Given the description of an element on the screen output the (x, y) to click on. 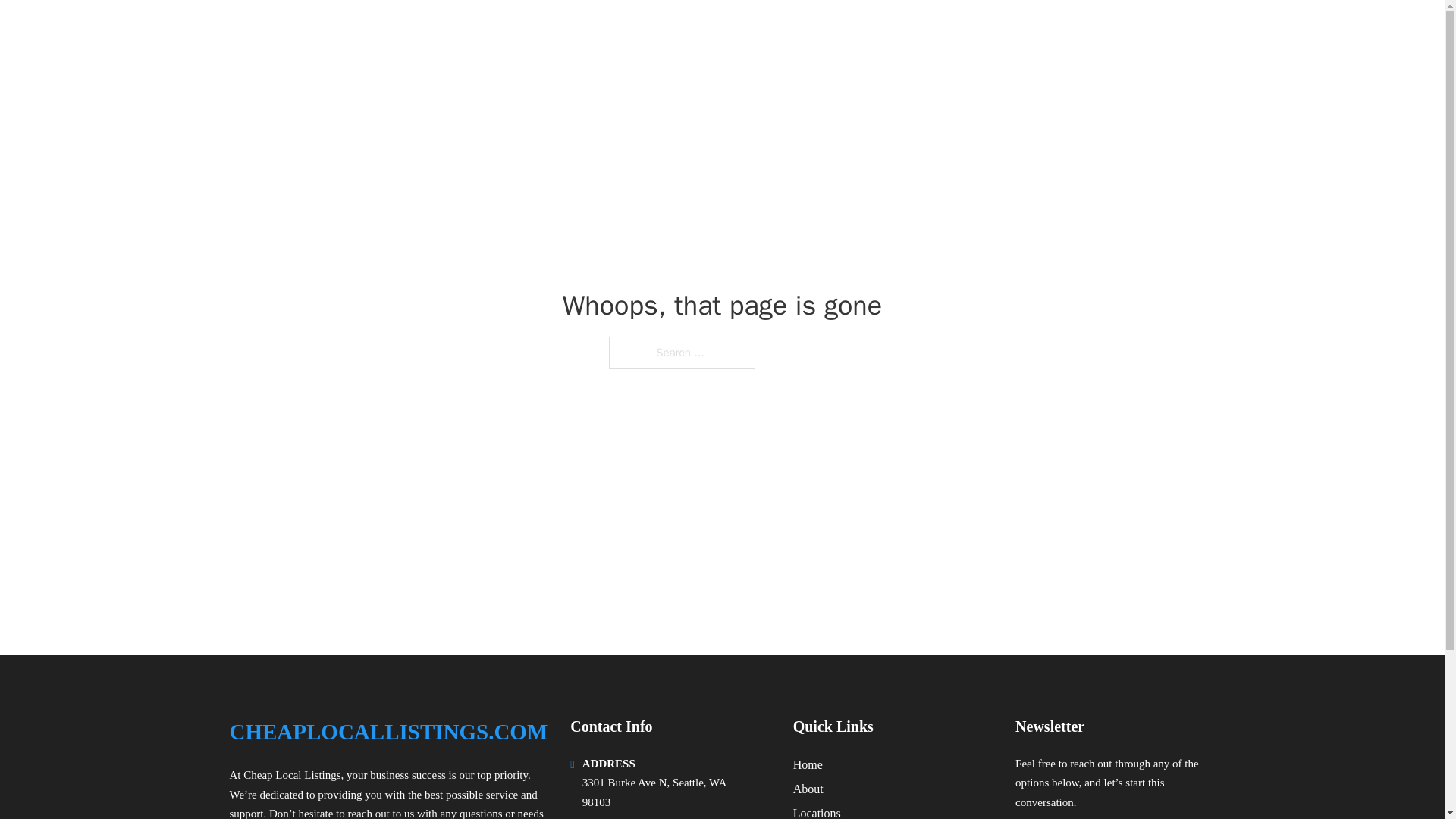
LOCATIONS (1098, 31)
Locations (817, 811)
Home (807, 764)
HOME (1025, 31)
CHEAPLOCALLISTINGS.COM (387, 732)
CHEAPLOCALLISTINGS.COM (403, 31)
About (808, 788)
